Given the description of an element on the screen output the (x, y) to click on. 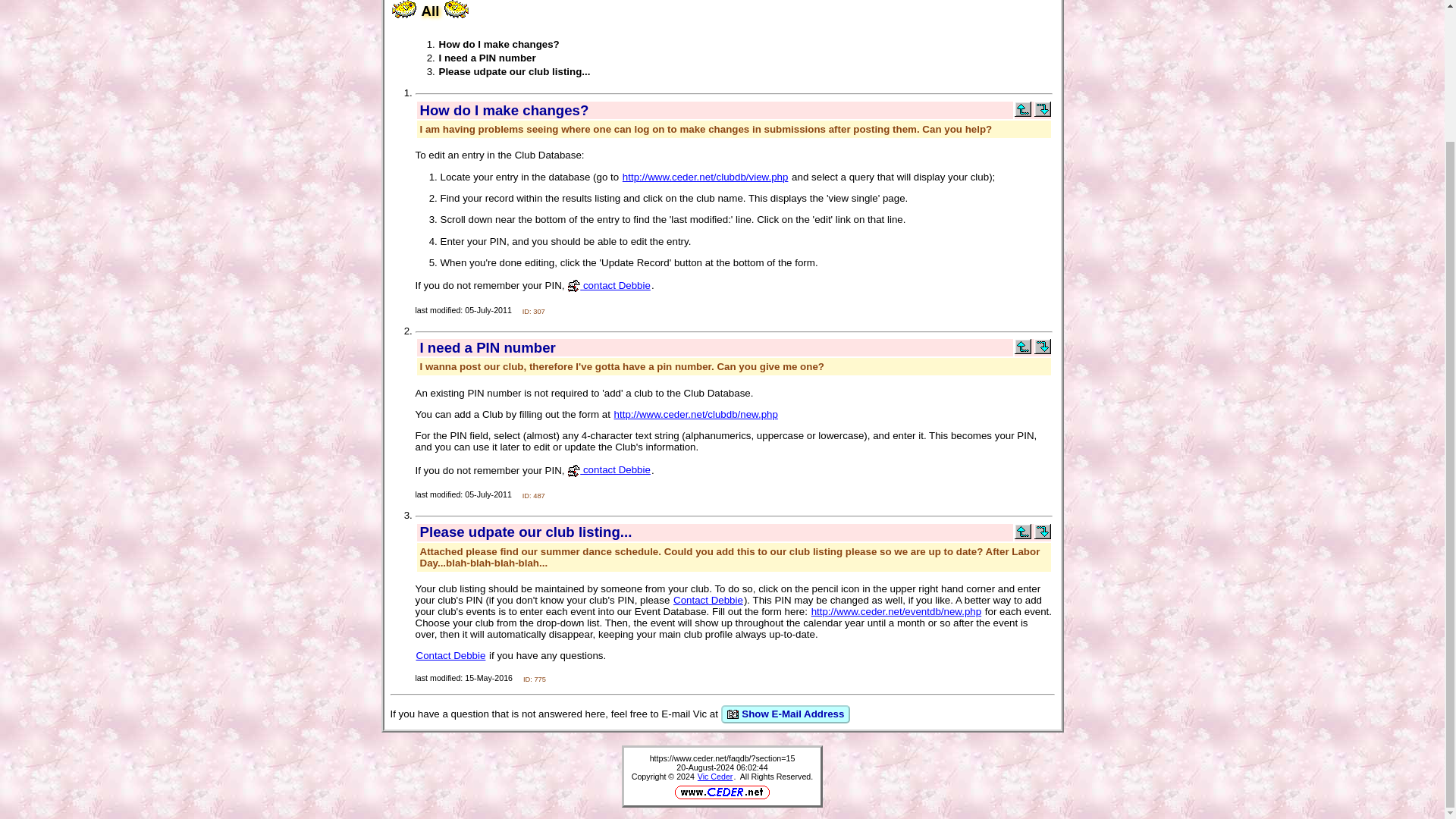
 contact Debbie (608, 469)
Contact Debbie (449, 655)
ID: 775 (534, 677)
Please udpate our club listing... (513, 71)
ID: 487 (533, 494)
ID: 307 (533, 310)
 contact Debbie (608, 285)
How do I make changes? (498, 43)
I need a PIN number (486, 57)
